Given the description of an element on the screen output the (x, y) to click on. 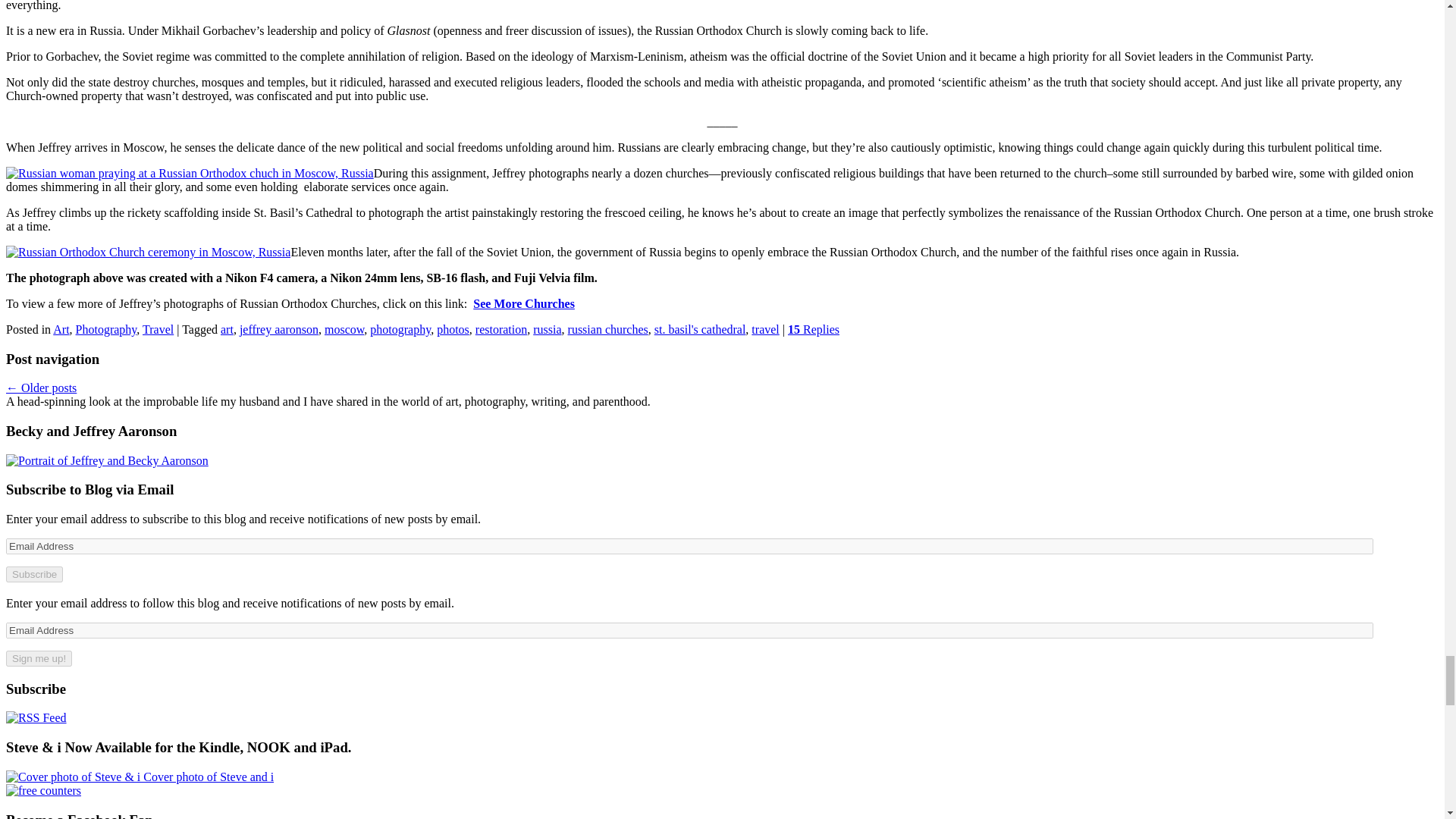
Email Address (689, 546)
Email Address (689, 630)
Sign me up! (38, 658)
Subscribe (33, 574)
